Given the description of an element on the screen output the (x, y) to click on. 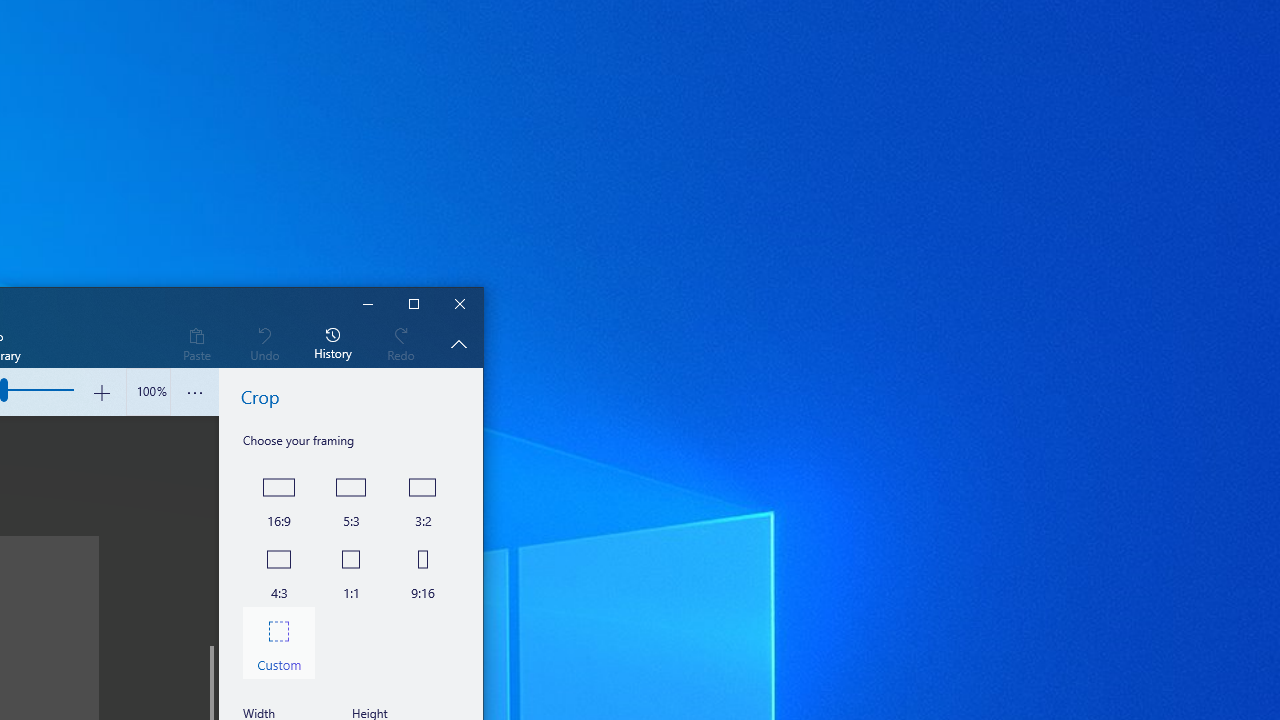
5 by 3 (350, 498)
9 by 16 (422, 570)
Zoom slider (148, 391)
Vertical Large Decrease (210, 530)
3 by 2 (422, 498)
View more options (194, 391)
Paste (196, 343)
Hide description (458, 343)
Redo (401, 343)
4 by 3 (278, 570)
History (333, 343)
Custom (278, 642)
Undo (264, 343)
1 by 1 (350, 570)
